Given the description of an element on the screen output the (x, y) to click on. 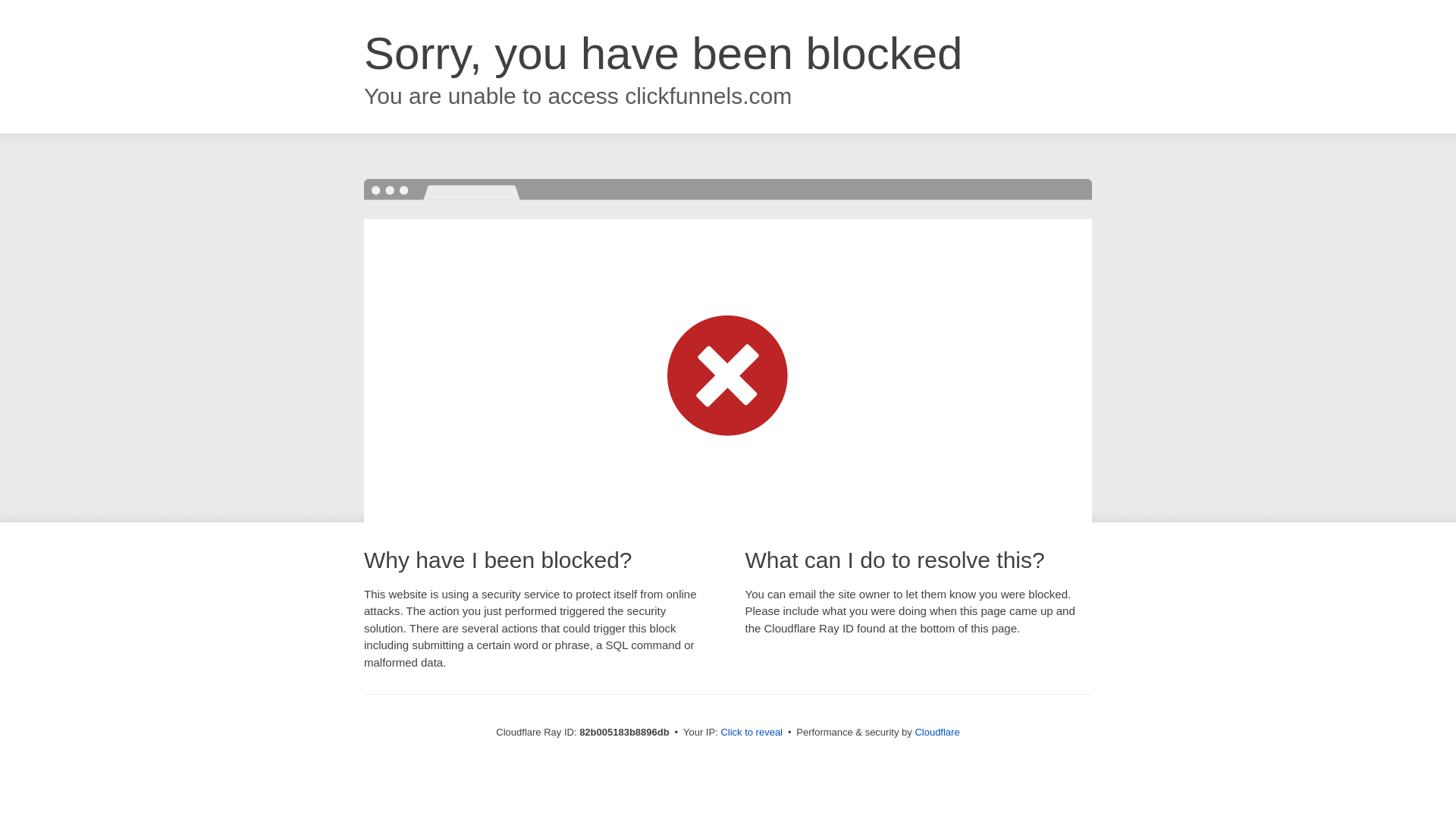
Cloudflare Element type: text (936, 731)
Click to reveal Element type: text (751, 732)
